Given the description of an element on the screen output the (x, y) to click on. 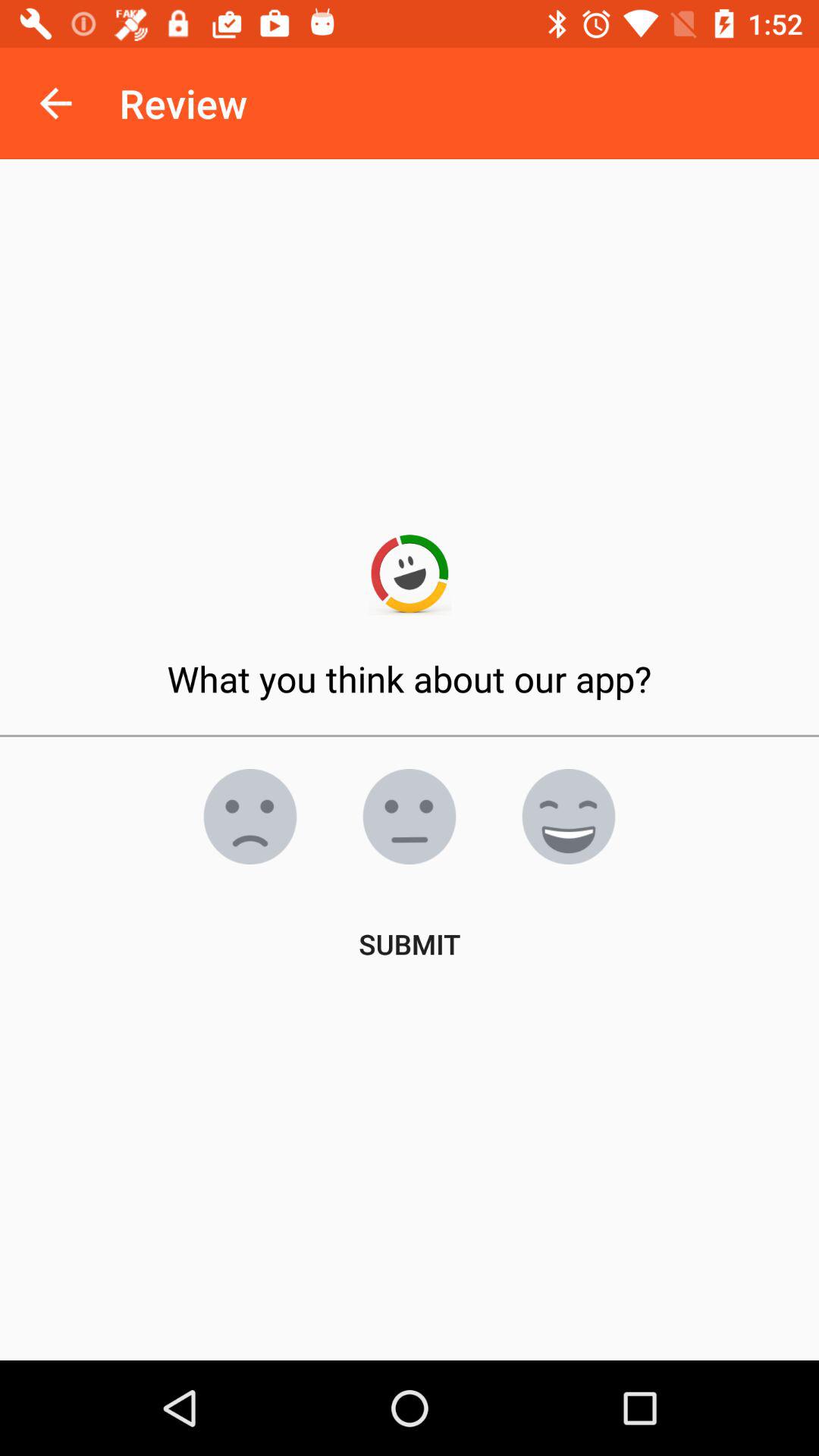
do n't like it (249, 816)
